Given the description of an element on the screen output the (x, y) to click on. 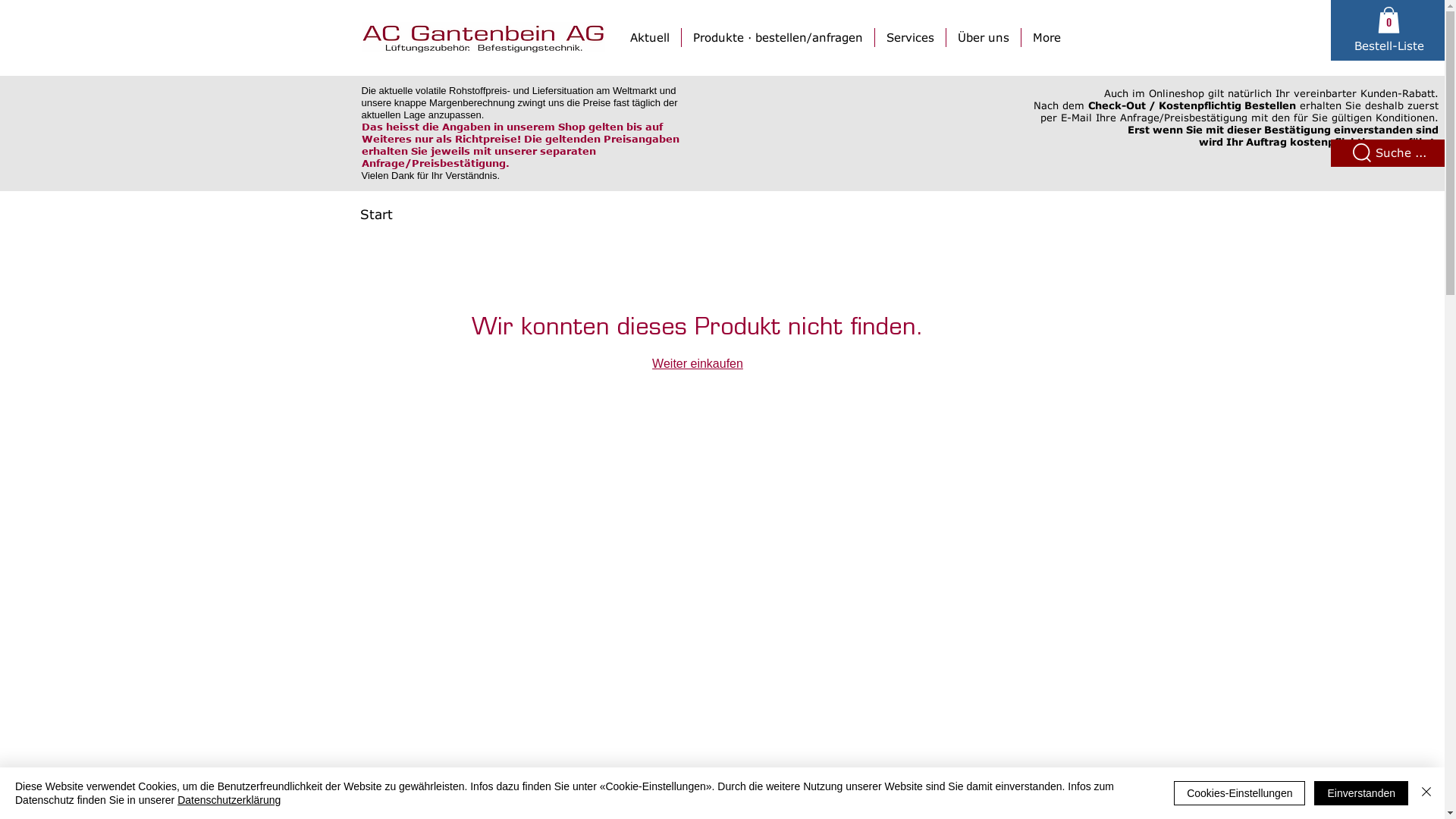
Cookies-Einstellungen Element type: text (1239, 793)
Start Element type: text (376, 214)
Services Element type: text (910, 37)
Suche ... Element type: text (1400, 152)
Einverstanden Element type: text (1361, 793)
Weiter einkaufen Element type: text (697, 363)
0 Element type: text (1388, 19)
Aktuell Element type: text (649, 37)
